Given the description of an element on the screen output the (x, y) to click on. 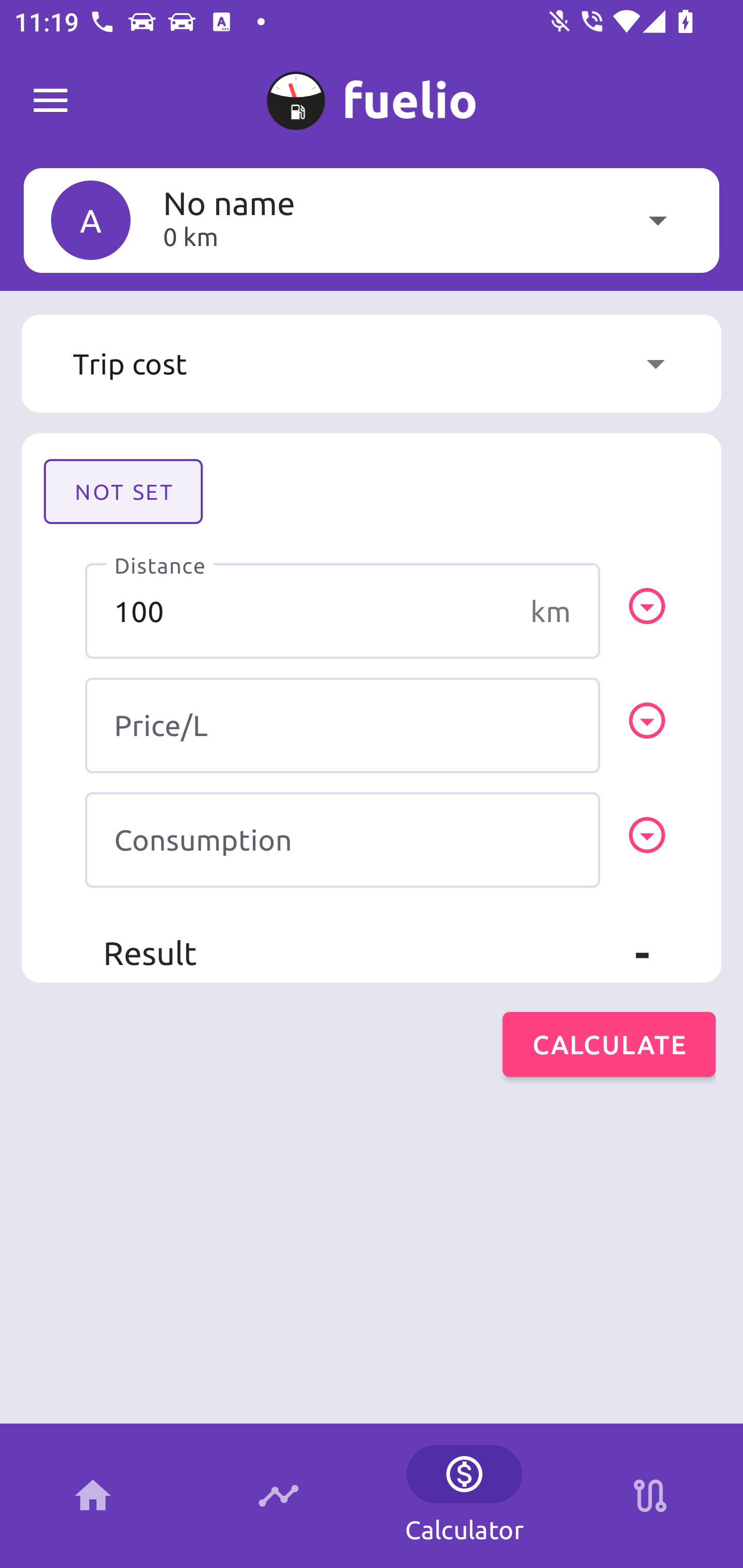
Fuelio (50, 101)
A No name 0 km (371, 219)
Trip cost (371, 363)
Show dropdown menu (655, 363)
NOT SET (122, 491)
100 (342, 610)
Price/L (342, 725)
Consumption (342, 839)
CALCULATE (608, 1044)
Home (92, 1495)
Timeline (278, 1495)
Stations on route (650, 1495)
